Given the description of an element on the screen output the (x, y) to click on. 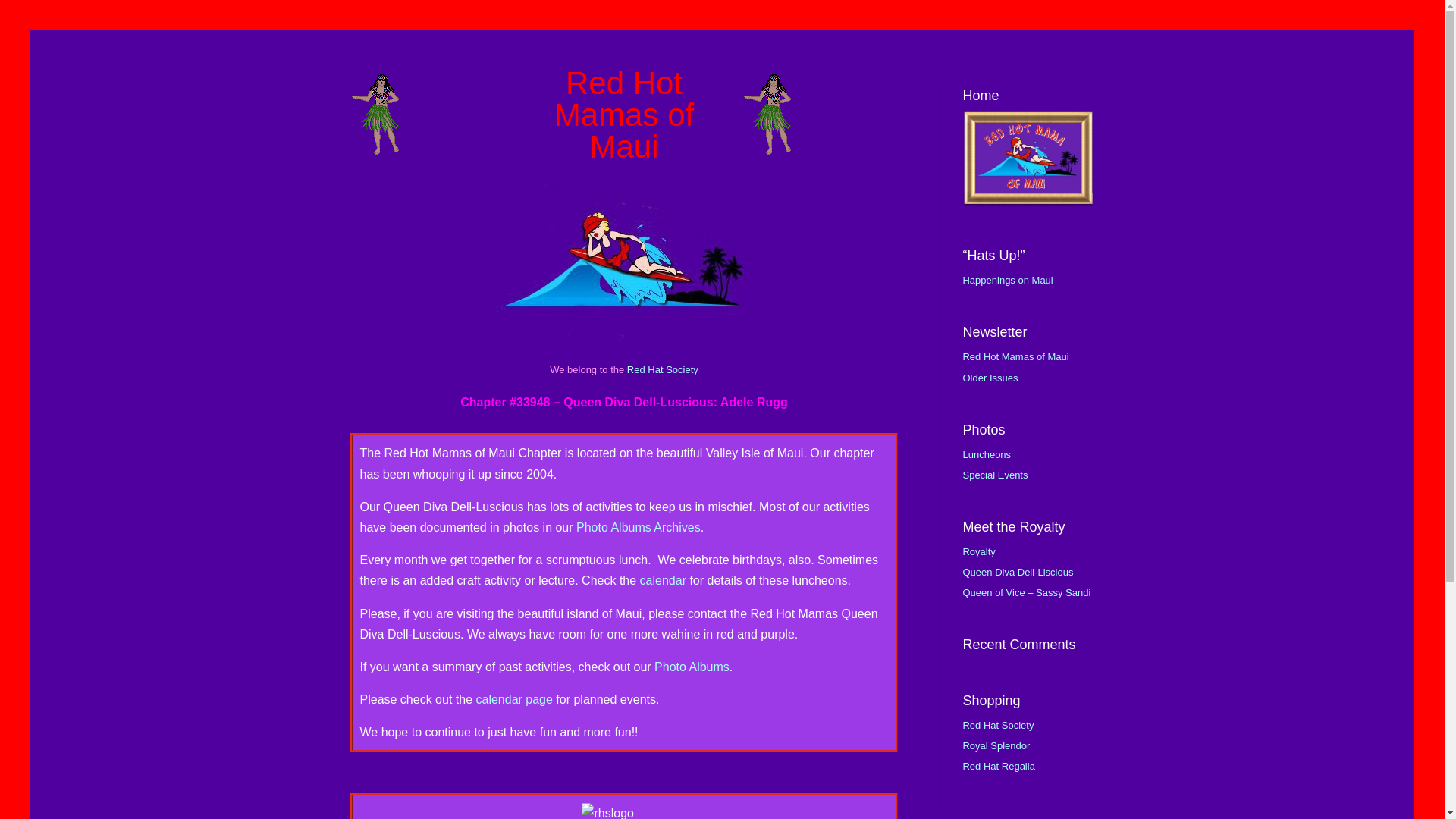
Royal Splendor (995, 745)
Queen Diva Dell-Liscious (1017, 572)
Photo Albums Archives (638, 526)
Special Events (994, 474)
Older Issues (989, 378)
Royalty (978, 551)
Red Hat Society (662, 369)
Photo Albums (691, 666)
Happenings on Maui (1007, 279)
Red Hat Regalia (997, 766)
calendar (662, 580)
Red Hot Mamas of Maui (1015, 356)
Red Hat Society (997, 725)
calendar page (513, 698)
Luncheons (986, 454)
